Given the description of an element on the screen output the (x, y) to click on. 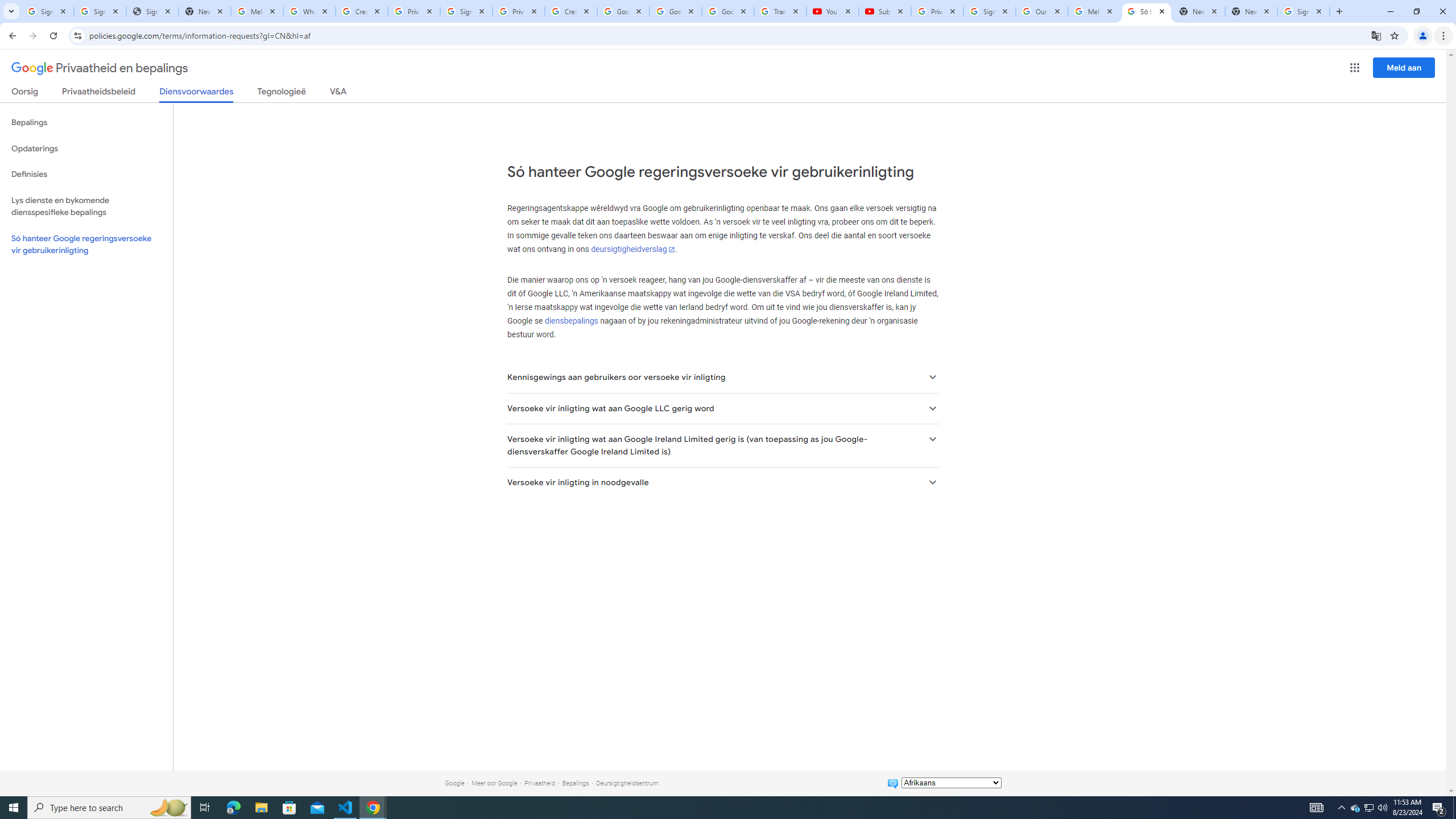
YouTube (831, 11)
